Given the description of an element on the screen output the (x, y) to click on. 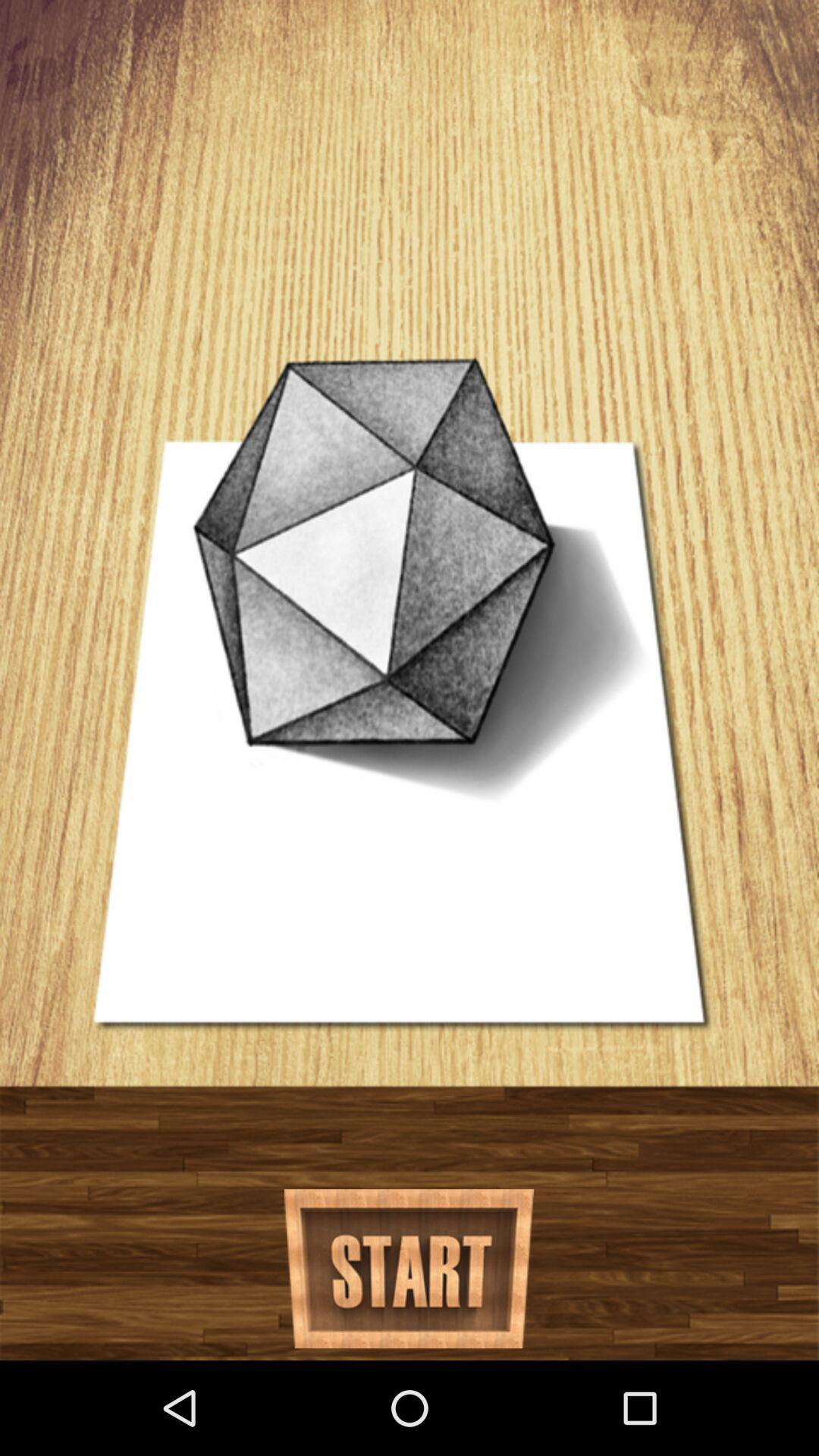
start button (409, 1268)
